Given the description of an element on the screen output the (x, y) to click on. 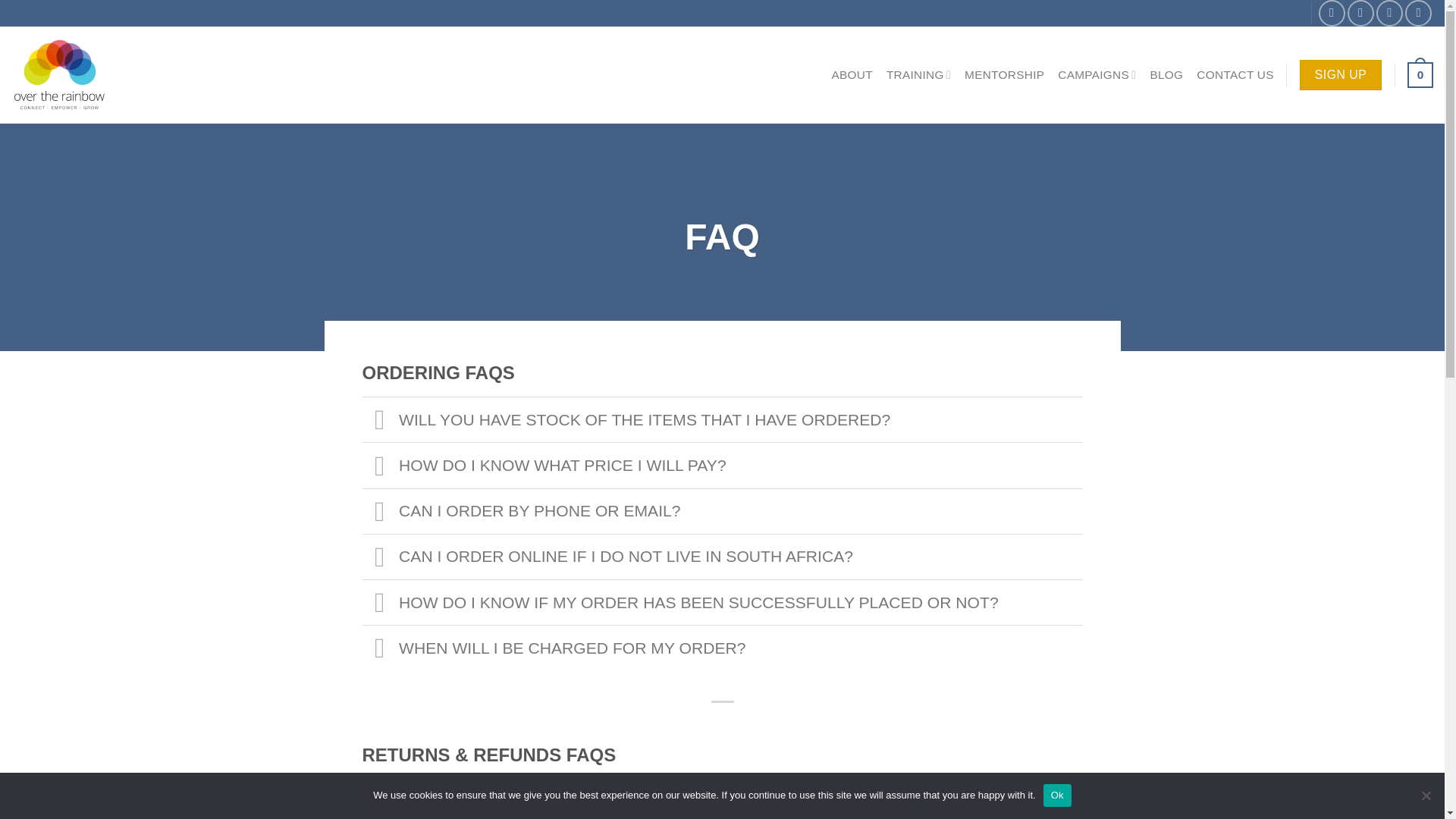
Over the Rainbow - Empowering Entrepreneurs (119, 74)
CAMPAIGNS (1096, 74)
CAN I ORDER ONLINE IF I DO NOT LIVE IN SOUTH AFRICA? (722, 556)
BLOG (1166, 74)
HOW DO I KNOW WHAT PRICE I WILL PAY? (722, 464)
CONTACT US (1235, 74)
CAN I ORDER BY PHONE OR EMAIL? (722, 510)
ABOUT (851, 74)
Follow on YouTube (1418, 13)
WILL YOU HAVE STOCK OF THE ITEMS THAT I HAVE ORDERED? (722, 419)
